Given the description of an element on the screen output the (x, y) to click on. 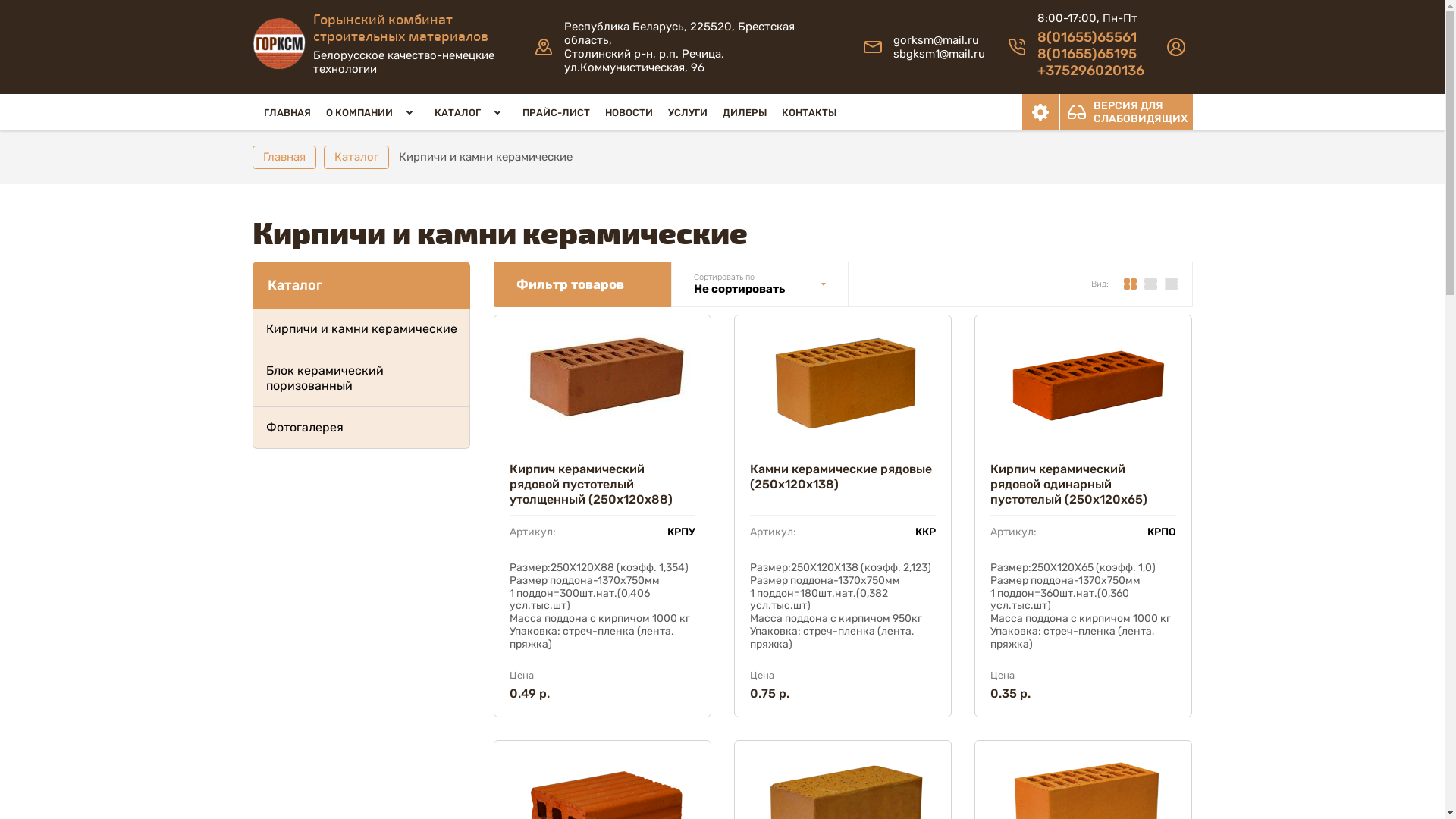
8(01655)65561
8(01655)65195
+375296020136 Element type: text (1090, 53)
gorksm@mail.ru
sbgksm1@mail.ru Element type: text (939, 46)
